Given the description of an element on the screen output the (x, y) to click on. 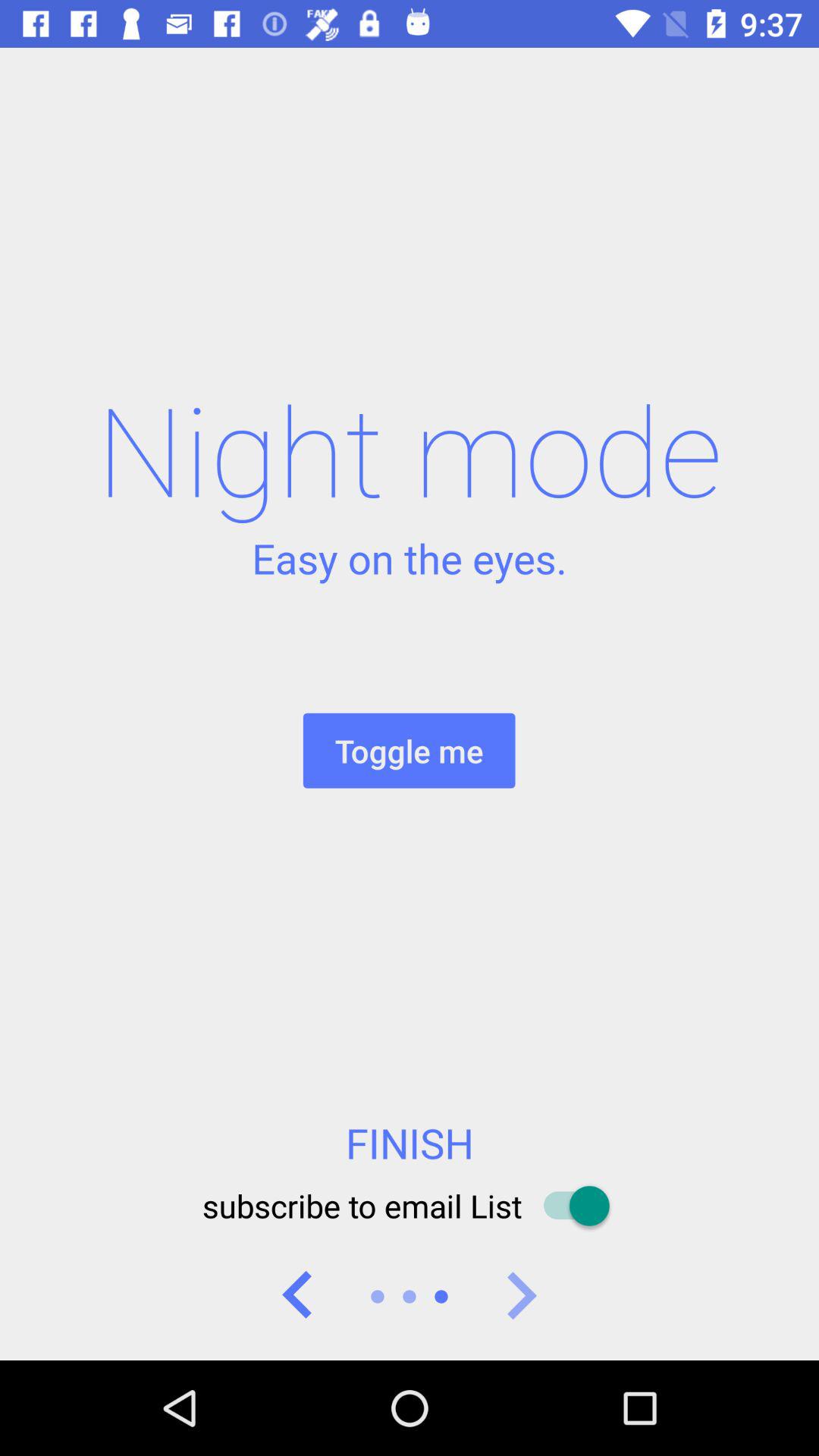
turn on toggle me icon (409, 750)
